Given the description of an element on the screen output the (x, y) to click on. 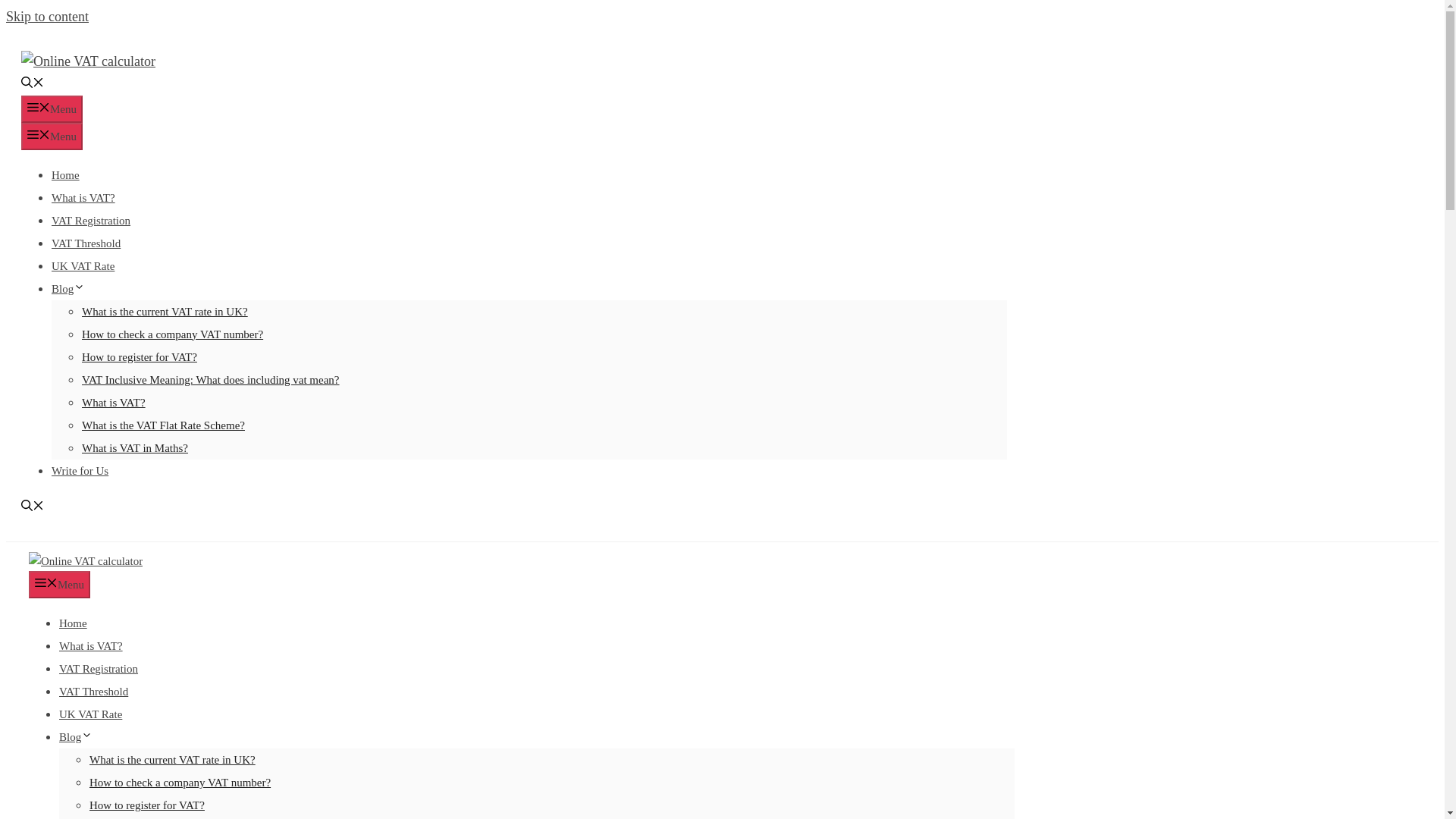
Write for Us (78, 470)
What is the VAT Flat Rate Scheme? (162, 425)
How to register for VAT? (146, 805)
Online VAT calculator (85, 561)
What is VAT? (113, 402)
How to check a company VAT number? (172, 334)
Skip to content (46, 16)
VAT Registration (98, 668)
UK VAT Rate (90, 714)
What is the current VAT rate in UK? (164, 311)
